Given the description of an element on the screen output the (x, y) to click on. 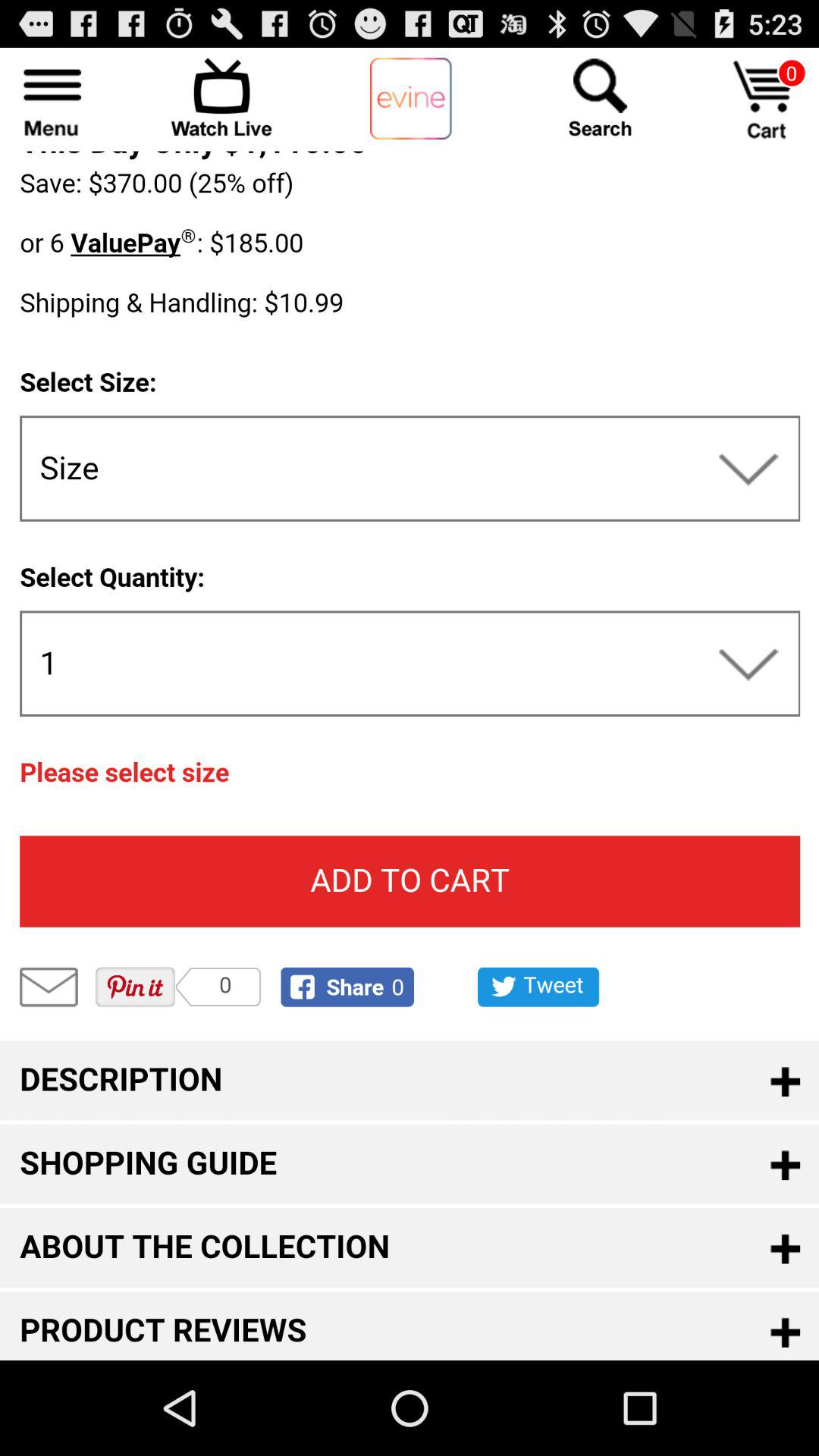
evine (410, 99)
